Given the description of an element on the screen output the (x, y) to click on. 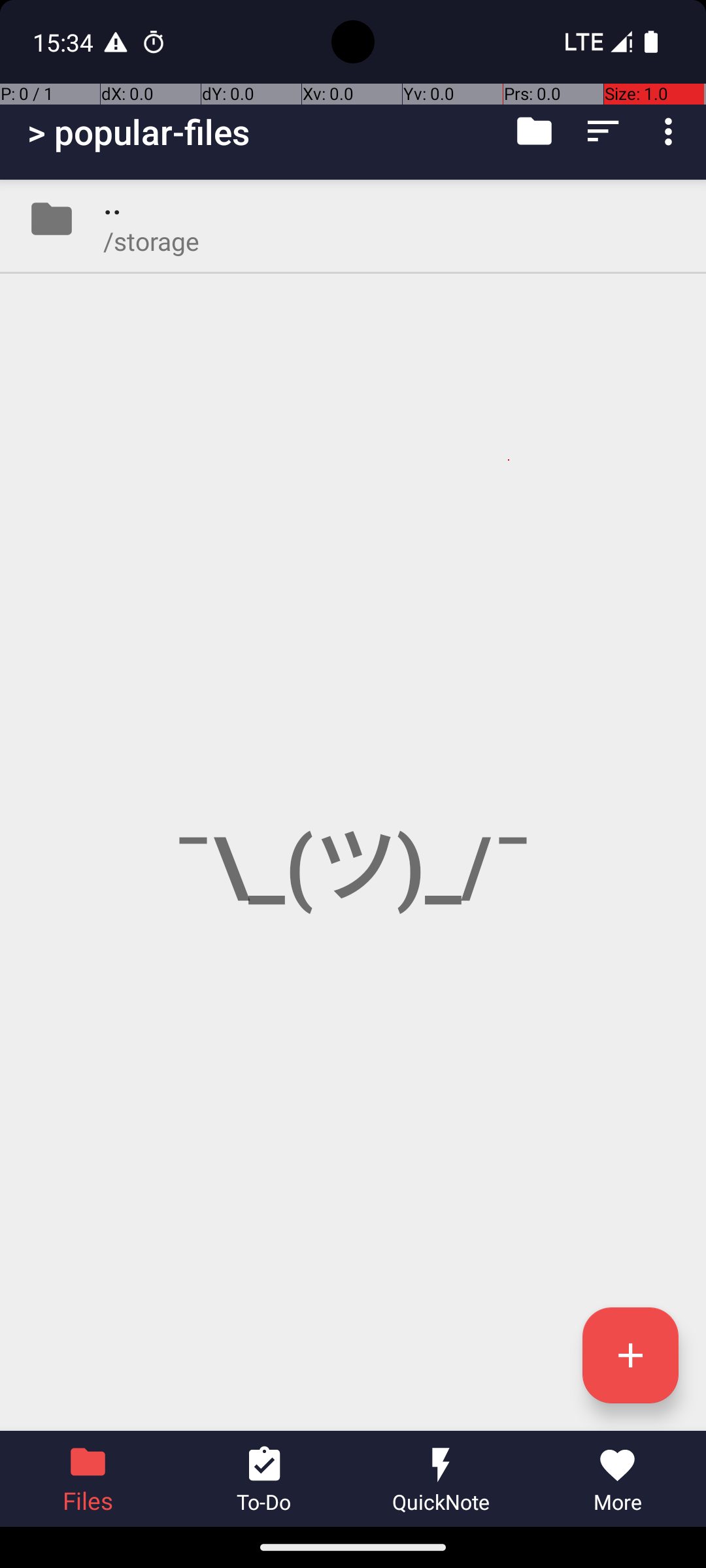
> popular-files Element type: android.widget.TextView (138, 131)
Folder .. /storage Element type: android.widget.LinearLayout (353, 218)
